Given the description of an element on the screen output the (x, y) to click on. 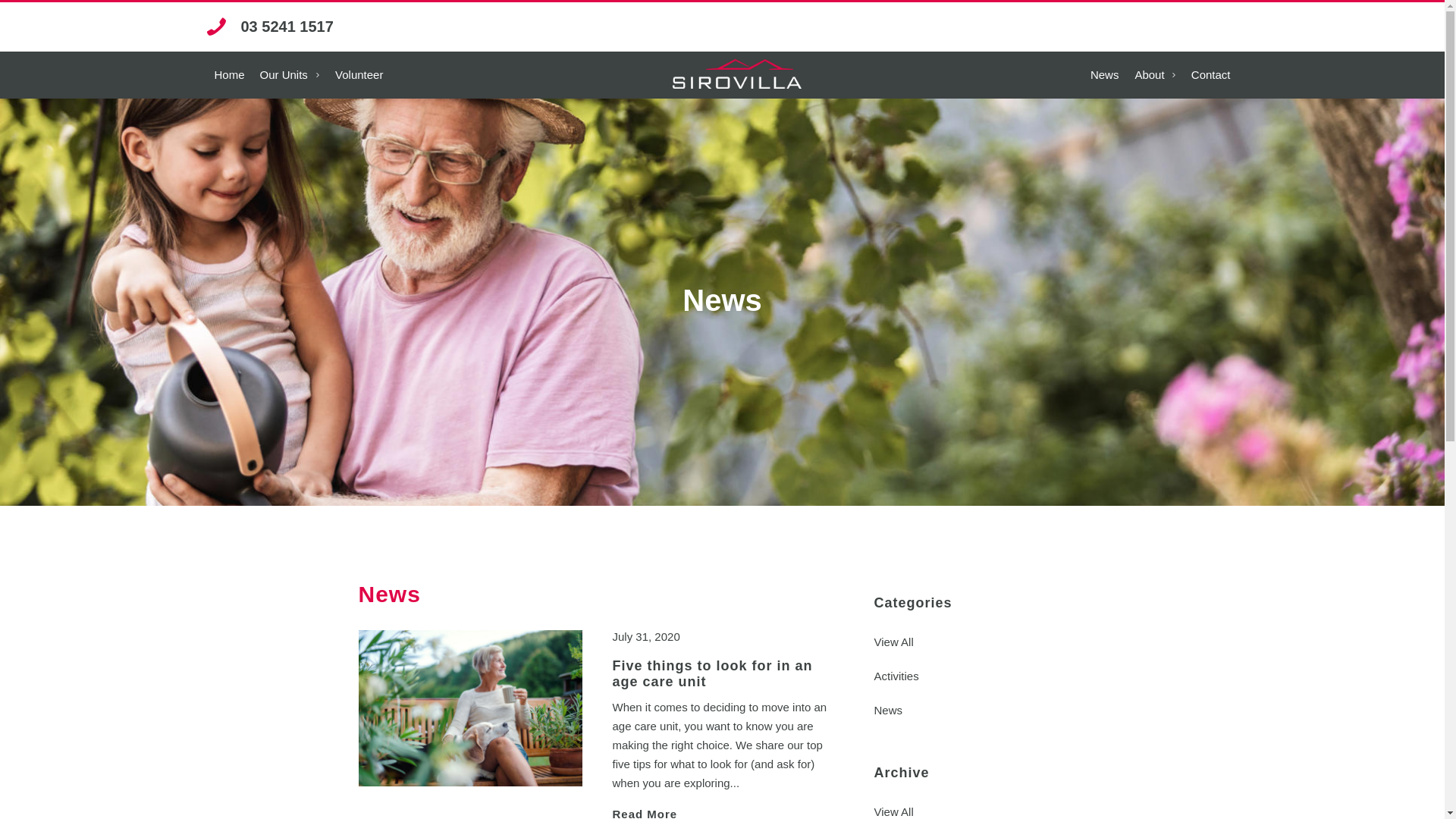
News Element type: text (1104, 74)
Volunteer Element type: text (358, 74)
News Element type: text (979, 710)
Home Element type: text (228, 74)
Our Units Element type: text (289, 74)
View All Element type: text (979, 641)
Activities Element type: text (979, 675)
Contact Element type: text (1210, 74)
About Element type: text (1154, 74)
